Given the description of an element on the screen output the (x, y) to click on. 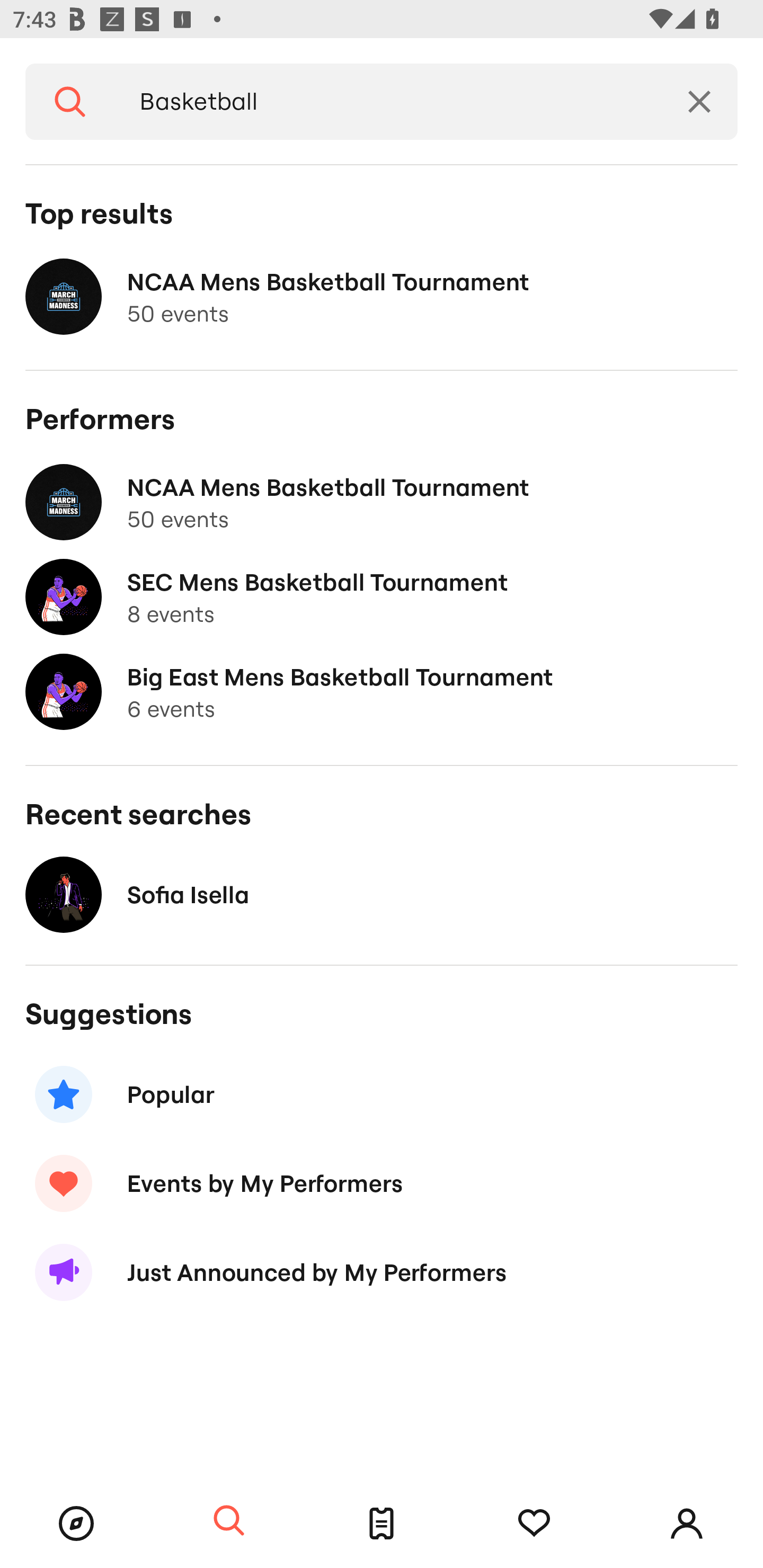
Search (69, 101)
Basketball (387, 101)
Clear (699, 101)
NCAA Mens Basketball Tournament 50 events (381, 296)
NCAA Mens Basketball Tournament 50 events (381, 502)
SEC Mens Basketball Tournament 8 events (381, 597)
Big East Mens Basketball Tournament 6 events (381, 692)
Sofia Isella (381, 894)
Popular (381, 1094)
Events by My Performers (381, 1182)
Just Announced by My Performers (381, 1272)
Browse (76, 1523)
Search (228, 1521)
Tickets (381, 1523)
Tracking (533, 1523)
Account (686, 1523)
